Given the description of an element on the screen output the (x, y) to click on. 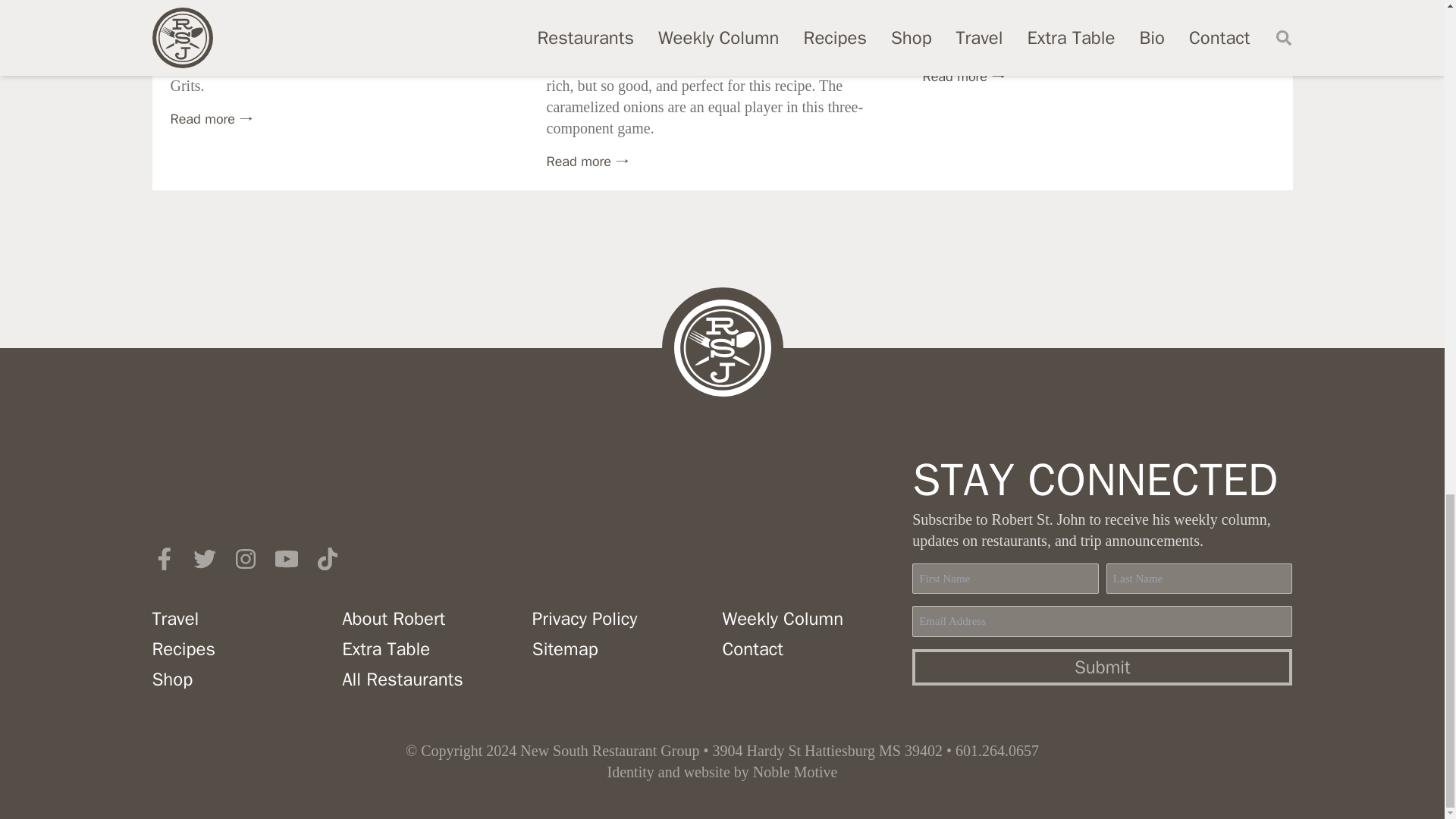
Read more (210, 118)
Submit (1102, 667)
Twitter (203, 558)
Youtube (286, 558)
Facebook (162, 558)
Read more (587, 160)
TikTok (326, 558)
Read more (962, 76)
Instagram (244, 558)
